Given the description of an element on the screen output the (x, y) to click on. 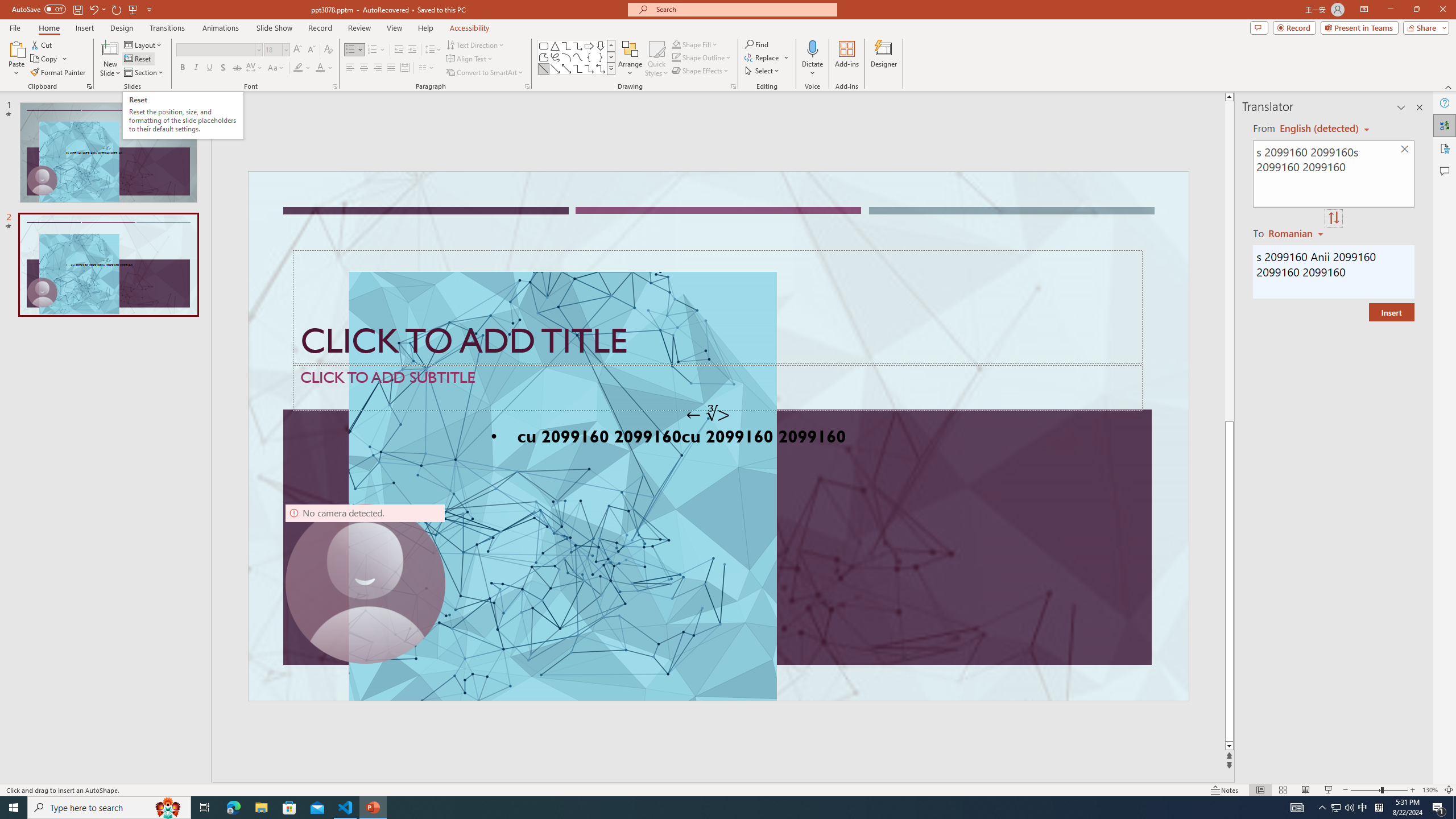
Font Size (273, 49)
Arrow: Down (600, 45)
Decrease Font Size (310, 49)
Copy (49, 58)
Page up (1245, 261)
Select (762, 69)
Freeform: Shape (543, 57)
Row up (611, 45)
Font Size (276, 49)
Section (144, 72)
Text Highlight Color (302, 67)
Dictate (812, 48)
